Given the description of an element on the screen output the (x, y) to click on. 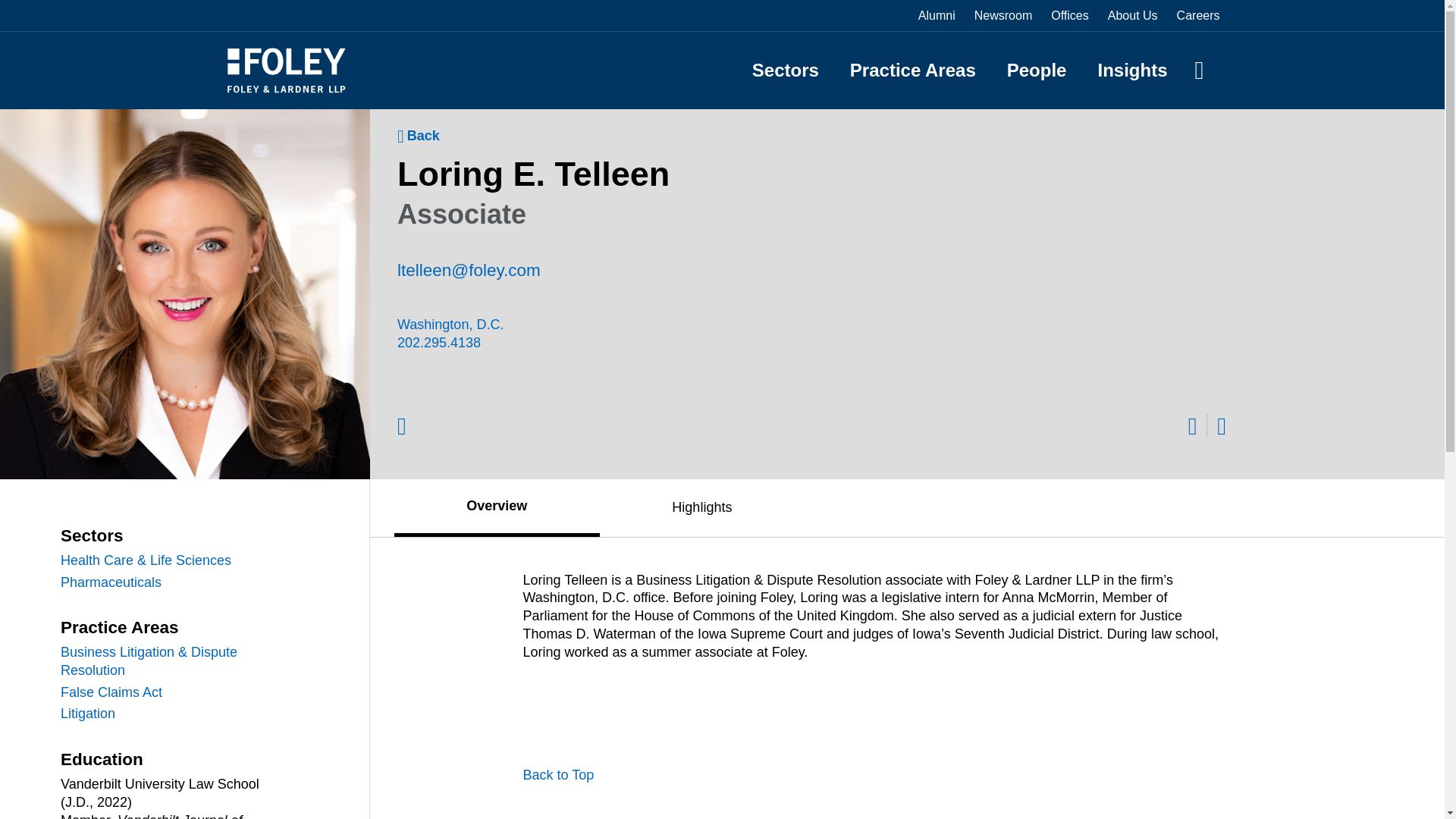
Alumni (936, 15)
Practice Areas (912, 70)
Insights (1132, 70)
Litigation (176, 714)
Careers (1198, 15)
Offices (1070, 15)
Newsroom (1003, 15)
Highlights (702, 507)
False Claims Act (176, 692)
About Us (1132, 15)
Overview (496, 506)
Back to Top (558, 775)
Washington, D.C. (561, 325)
People (1037, 70)
Pharmaceuticals (176, 583)
